Given the description of an element on the screen output the (x, y) to click on. 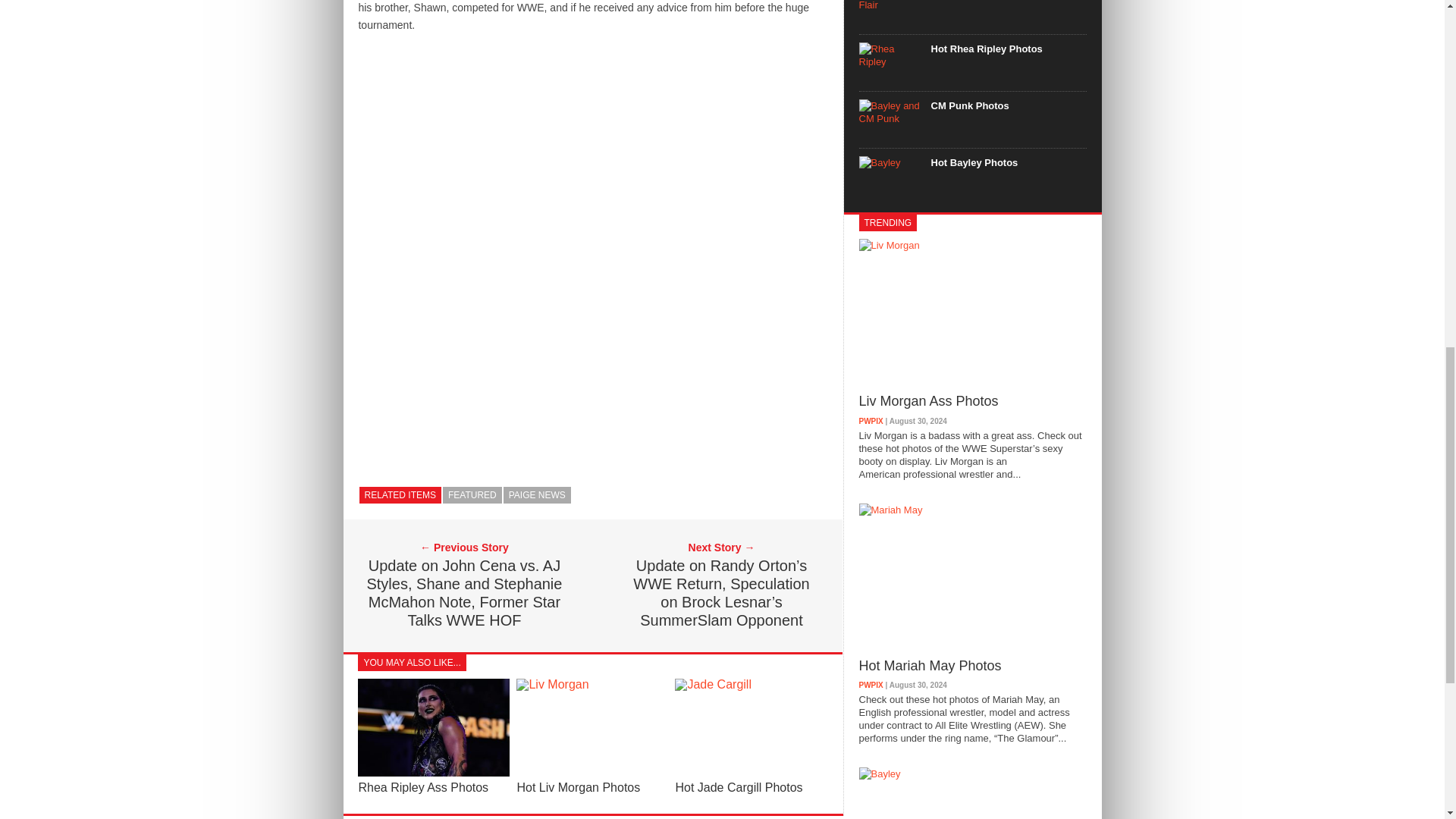
PAIGE NEWS (536, 494)
FEATURED (472, 494)
